Given the description of an element on the screen output the (x, y) to click on. 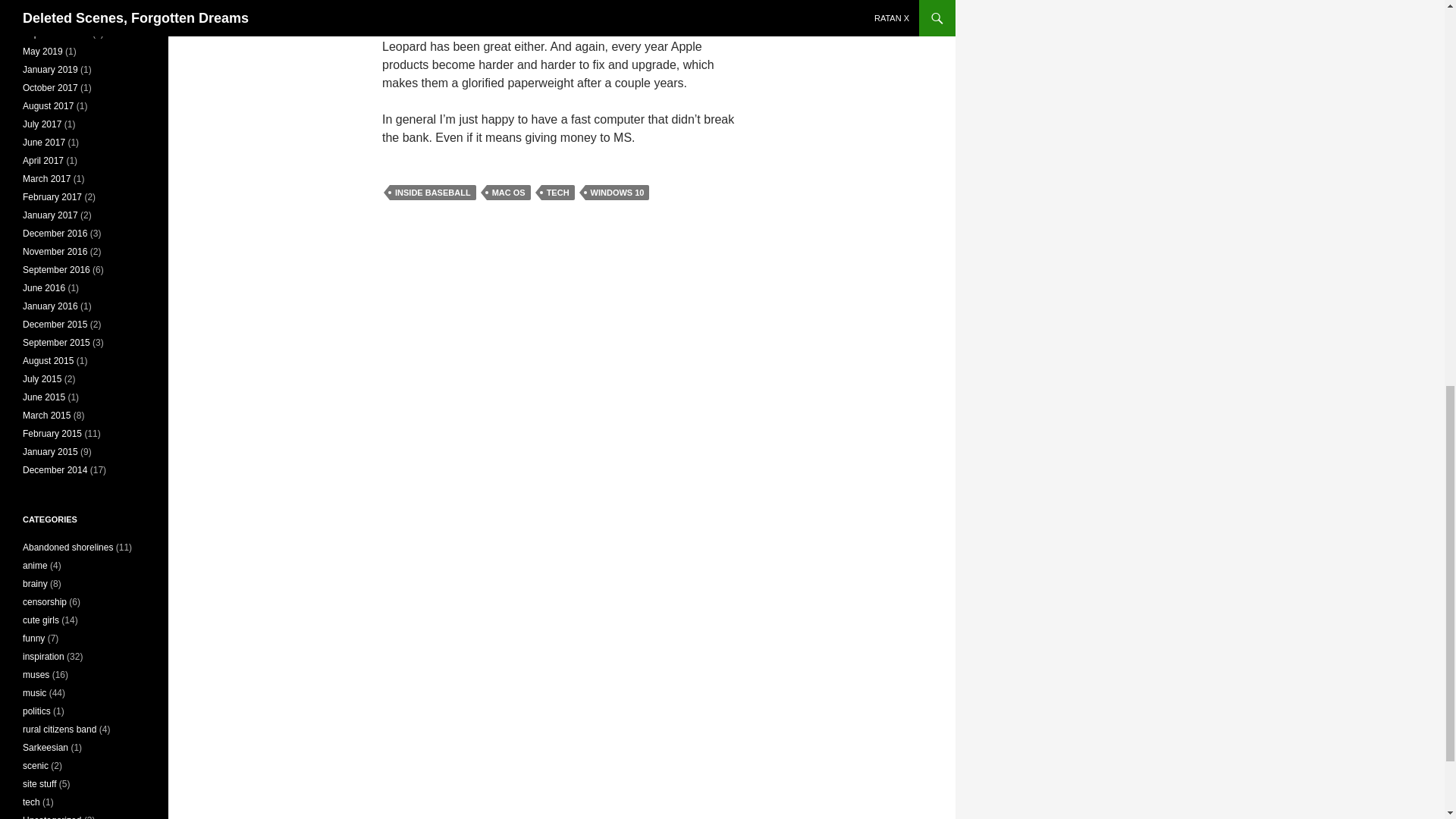
INSIDE BASEBALL (433, 192)
TECH (558, 192)
MAC OS (508, 192)
August 2017 (48, 105)
January 2019 (50, 69)
December 2019 (55, 14)
May 2019 (42, 50)
October 2017 (50, 87)
WINDOWS 10 (617, 192)
September 2019 (56, 32)
